Given the description of an element on the screen output the (x, y) to click on. 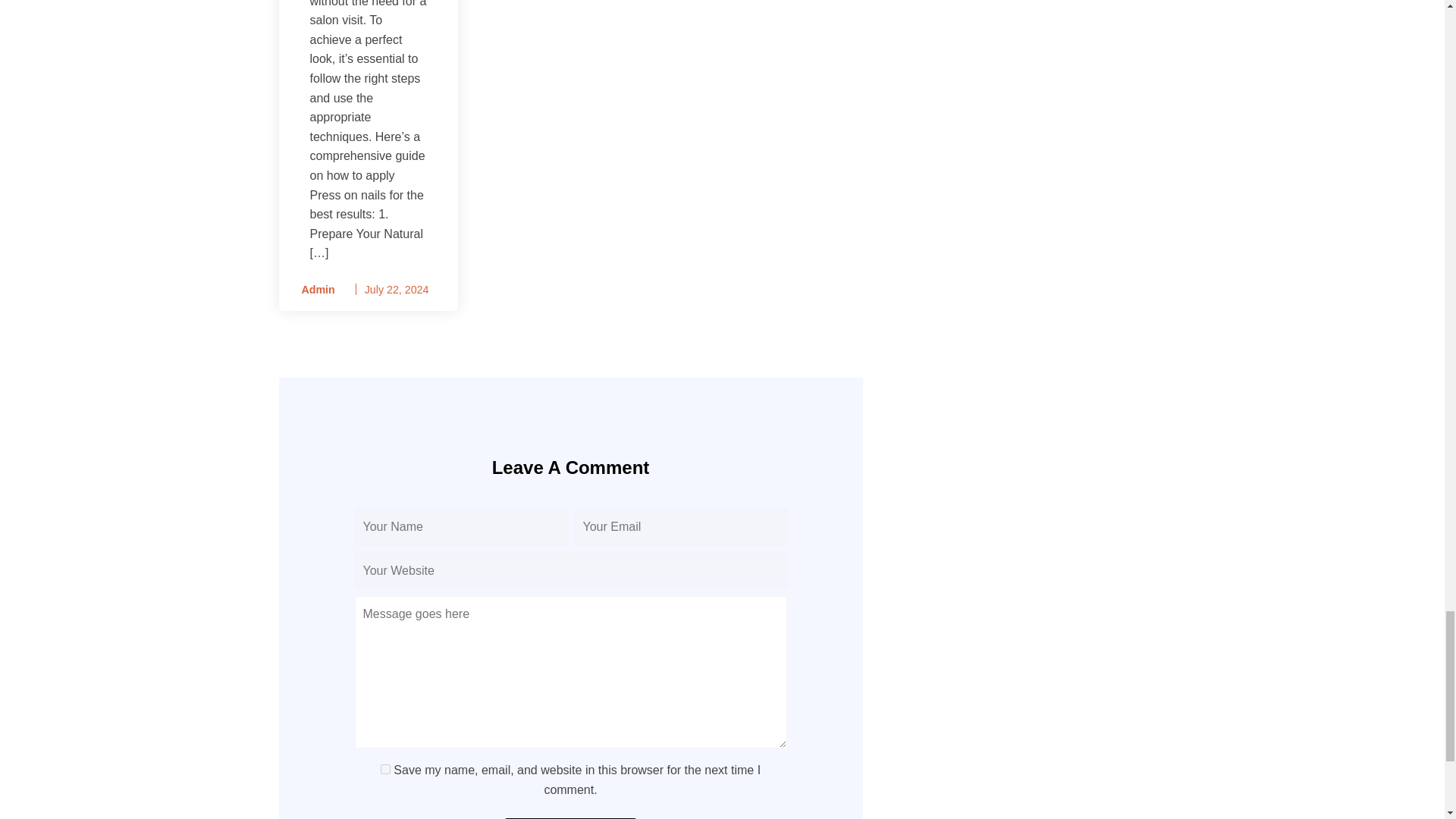
July 22, 2024 (397, 289)
Admin (312, 289)
yes (385, 768)
